Given the description of an element on the screen output the (x, y) to click on. 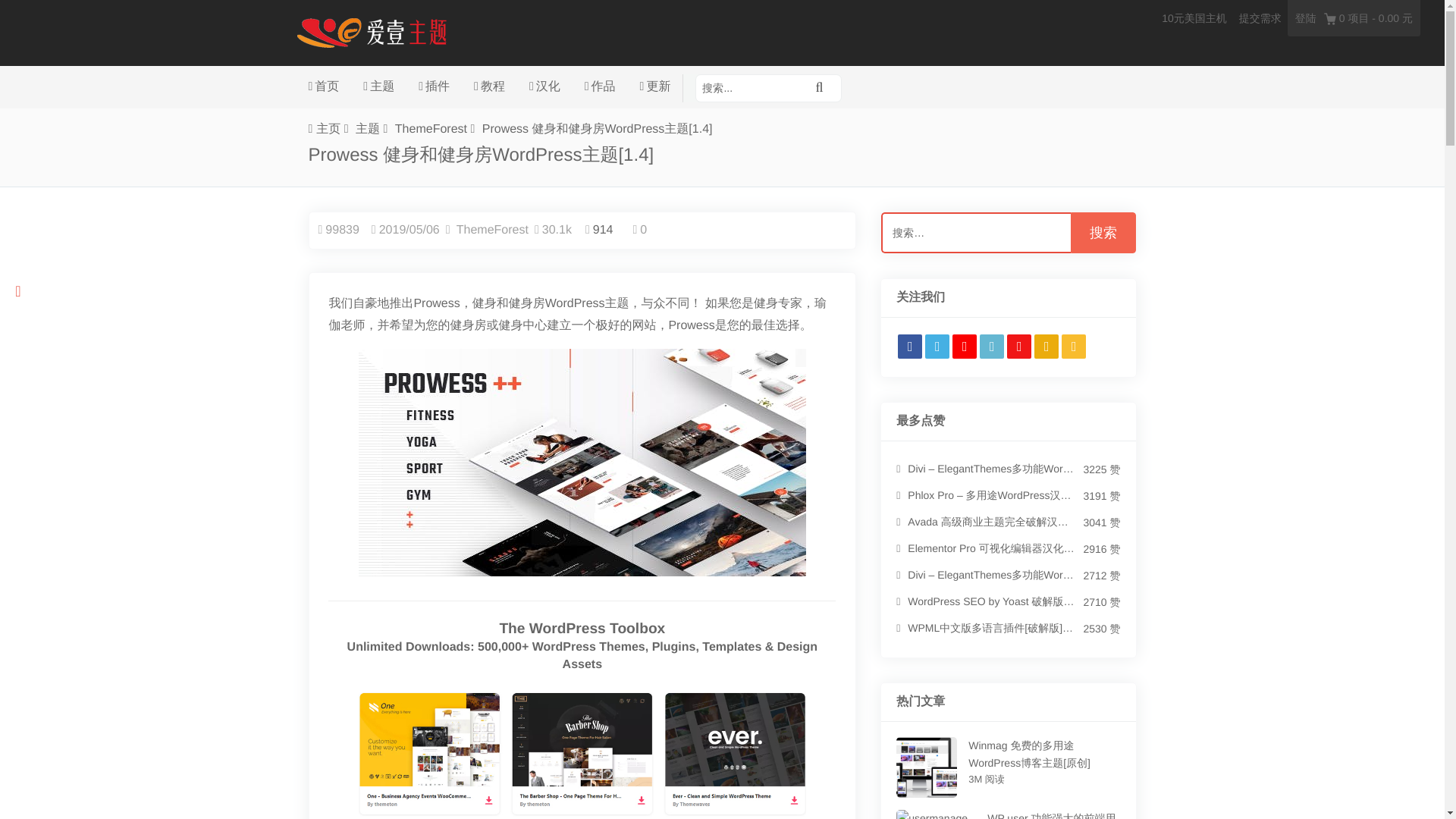
ThemeForest (430, 128)
ThemeForest (492, 229)
99839 (341, 229)
Like (602, 229)
